Given the description of an element on the screen output the (x, y) to click on. 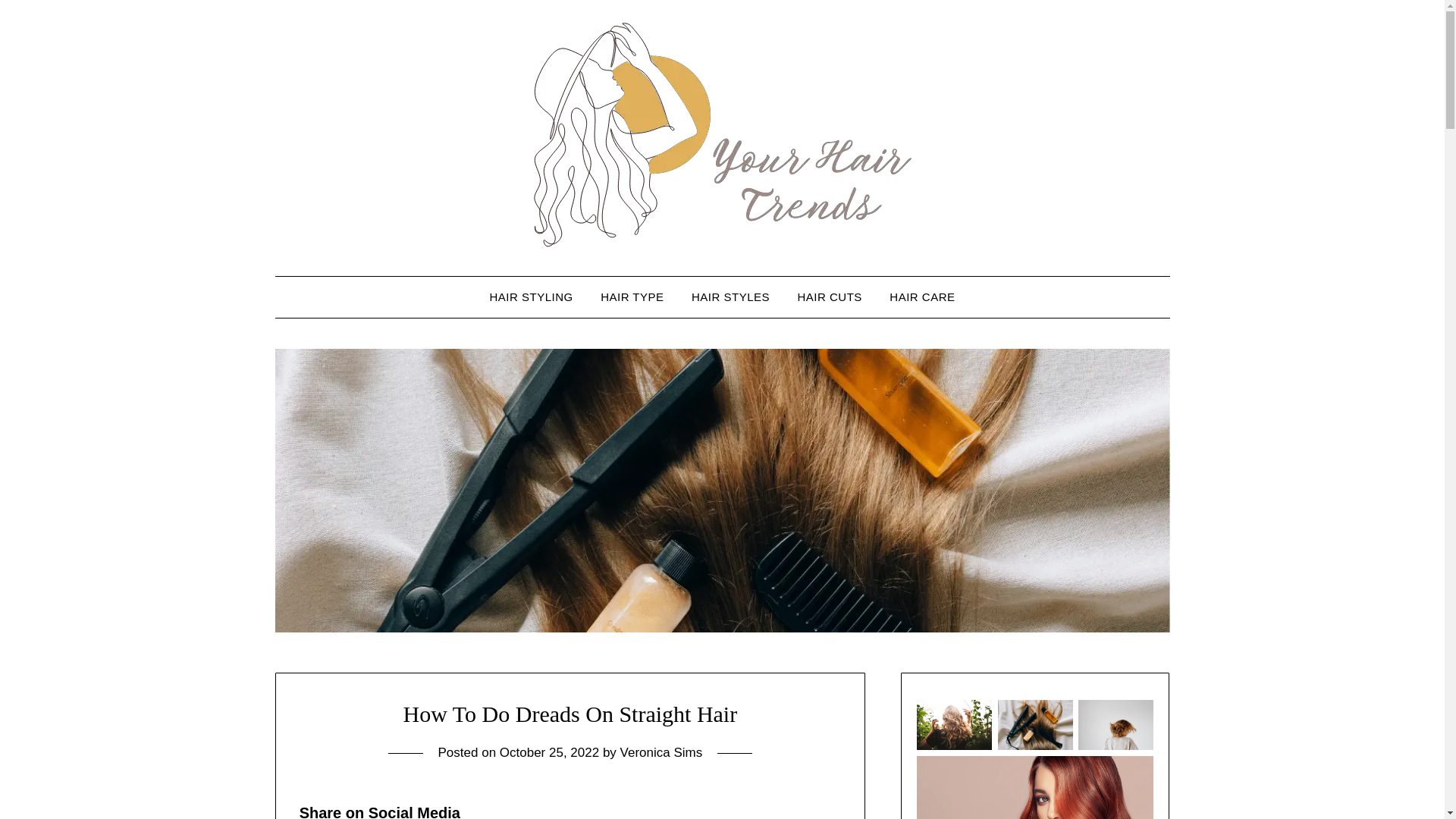
HAIR TYPE (631, 296)
October 25, 2022 (548, 752)
HAIR CUTS (830, 296)
HAIR STYLES (730, 296)
Veronica Sims (661, 752)
HAIR STYLING (531, 296)
HAIR CARE (921, 296)
